Given the description of an element on the screen output the (x, y) to click on. 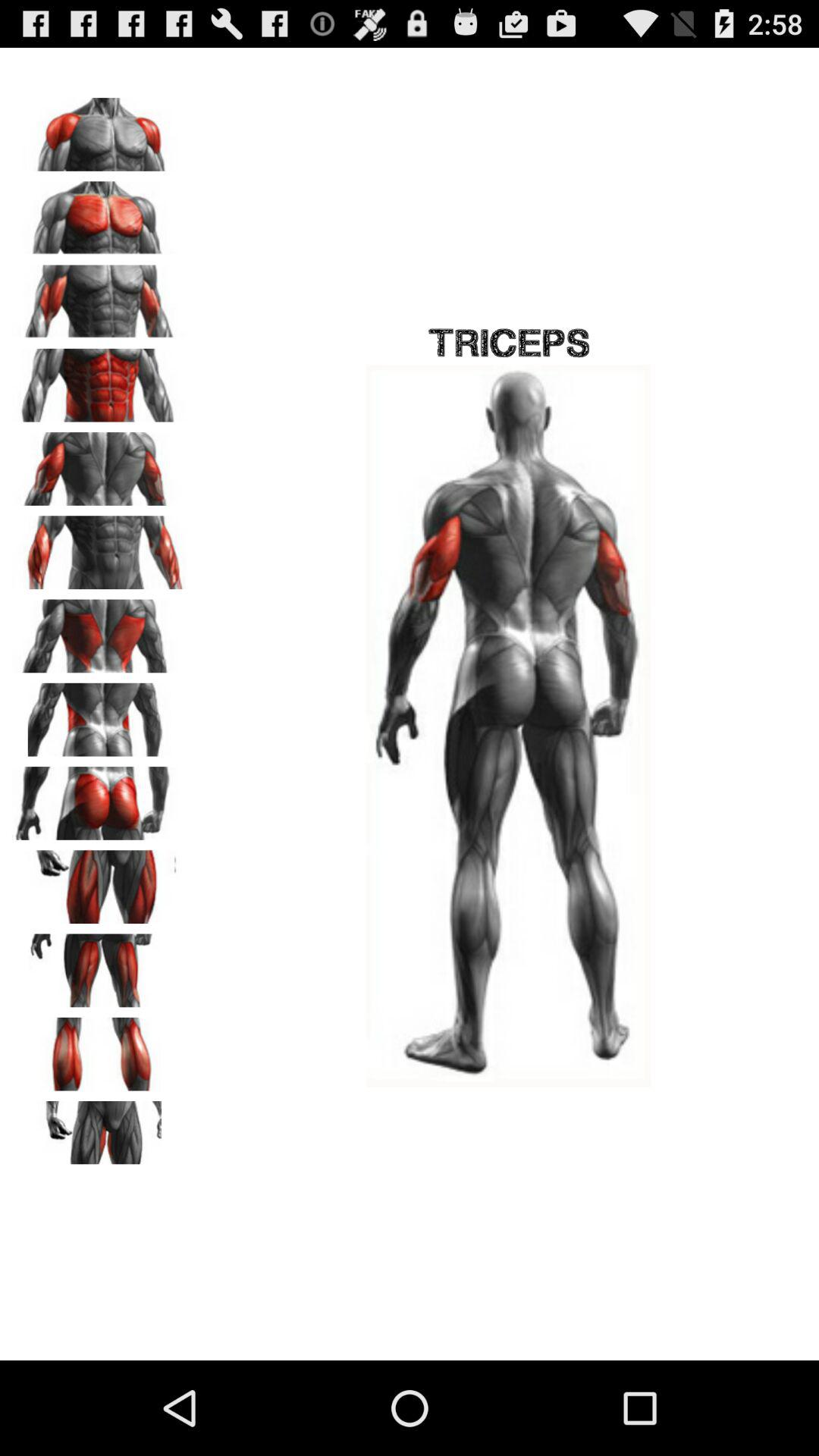
select image (99, 380)
